Given the description of an element on the screen output the (x, y) to click on. 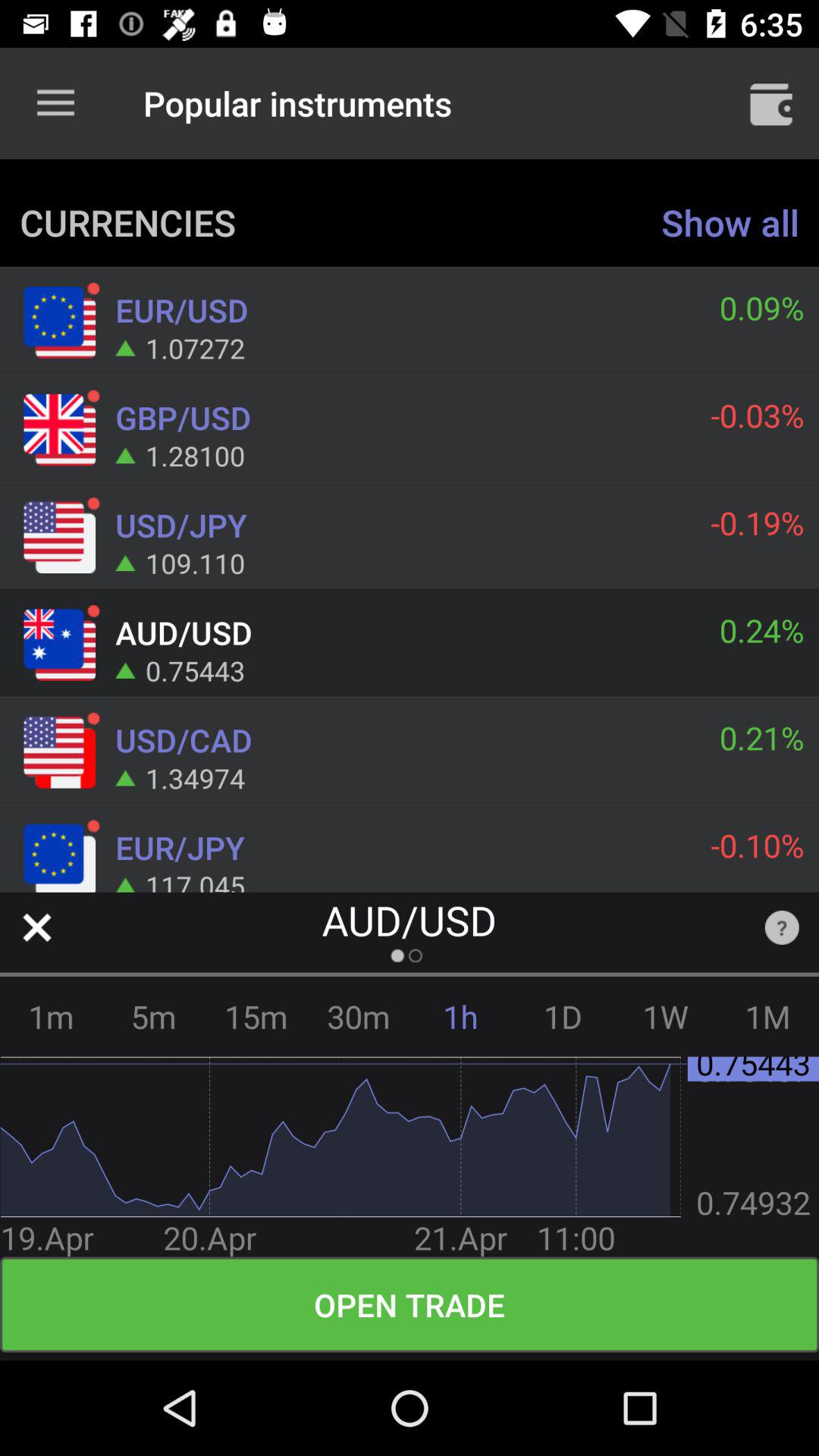
go to help (781, 927)
